Given the description of an element on the screen output the (x, y) to click on. 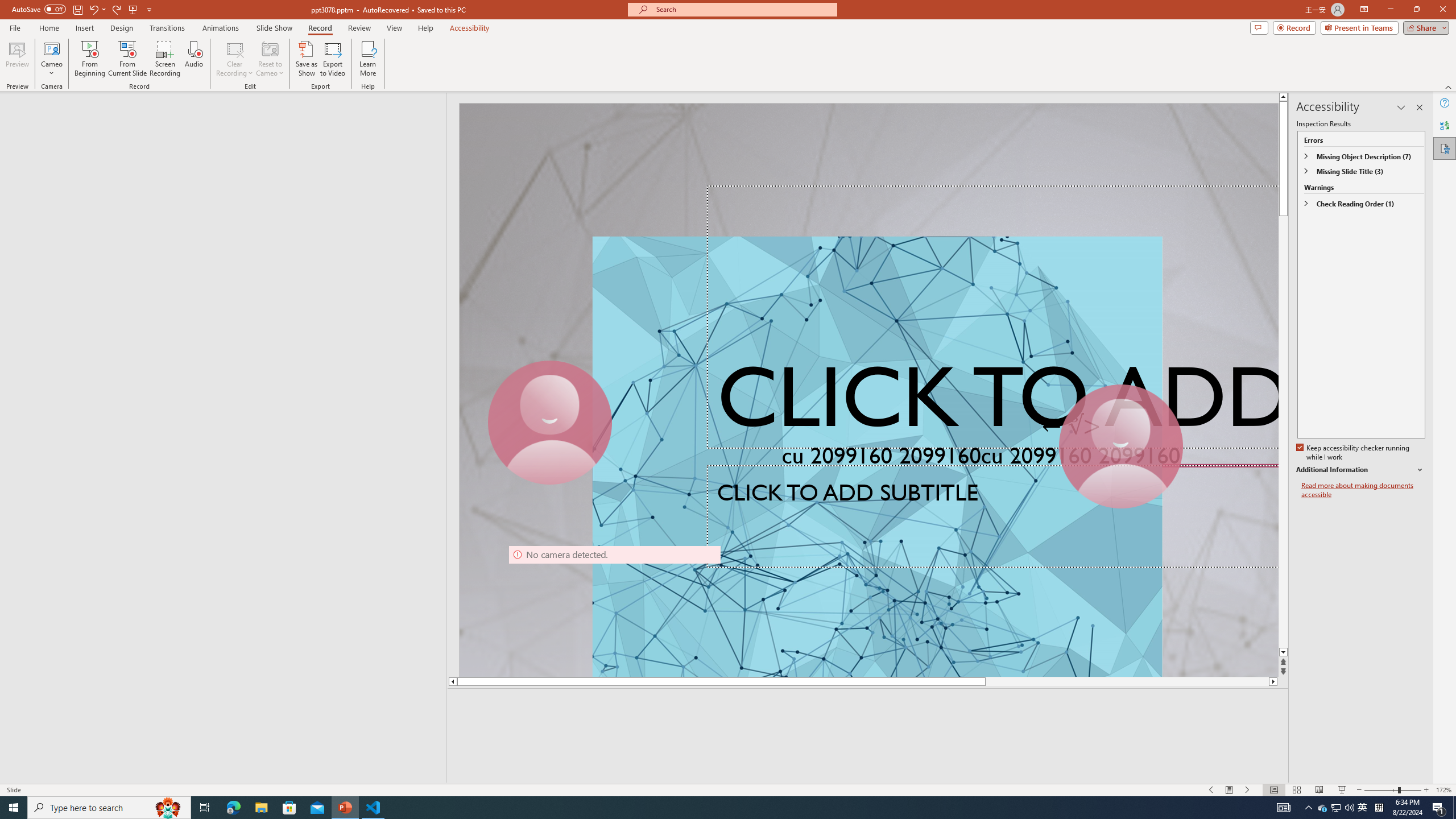
Reset to Cameo (269, 58)
Outline (227, 114)
